Given the description of an element on the screen output the (x, y) to click on. 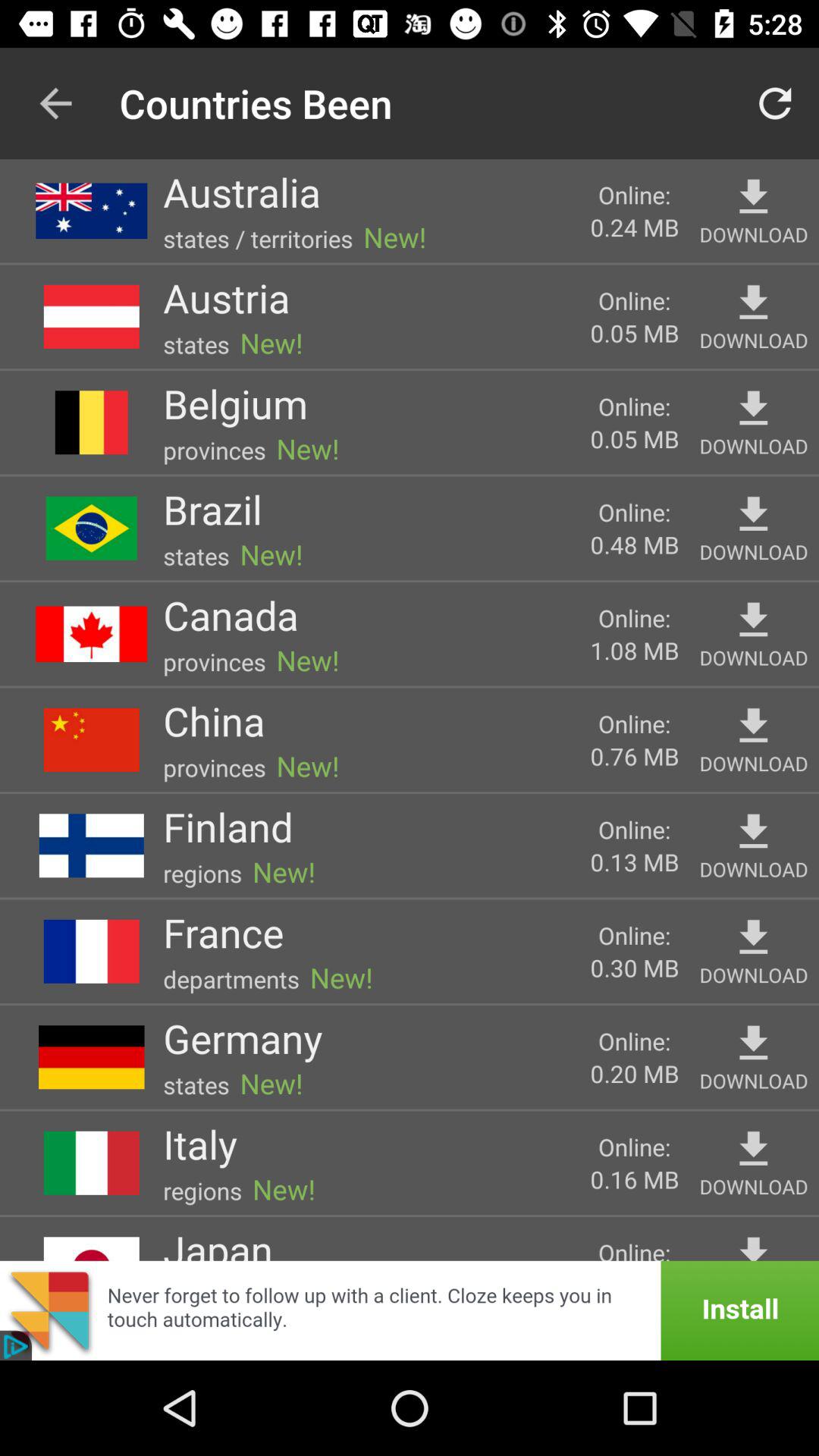
download (753, 937)
